Given the description of an element on the screen output the (x, y) to click on. 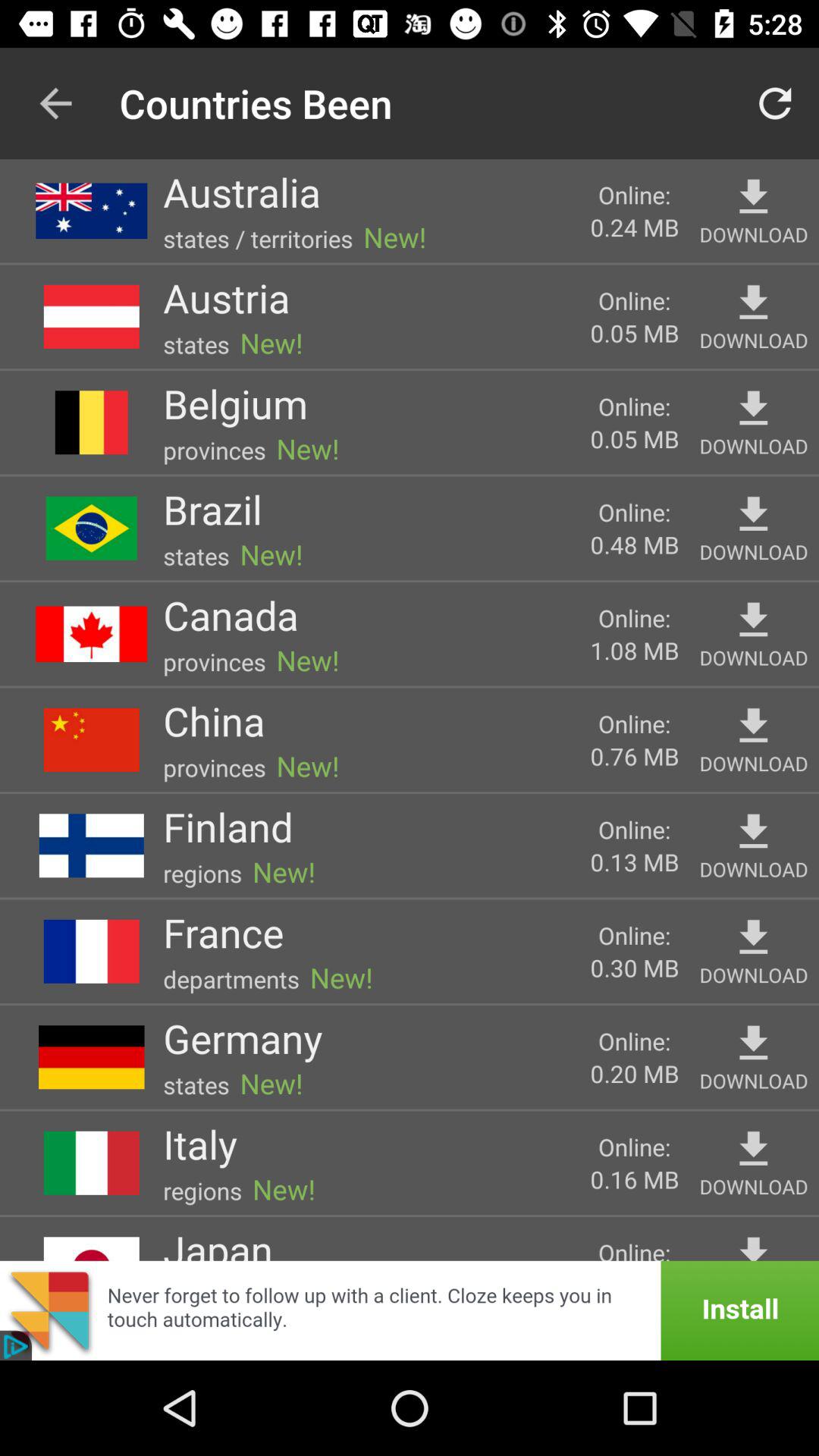
download (753, 937)
